Given the description of an element on the screen output the (x, y) to click on. 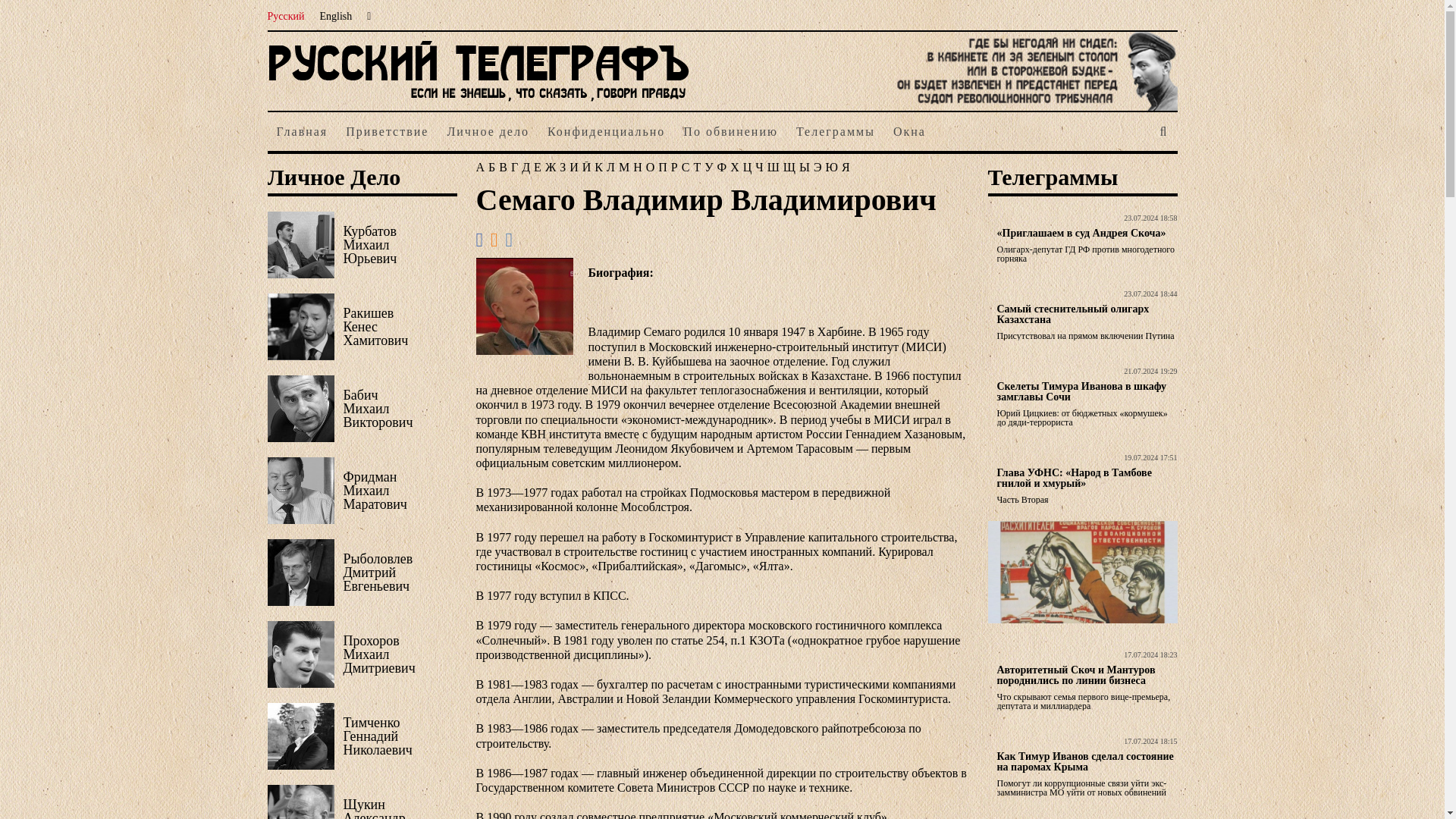
English (344, 16)
rutelegraf.com (477, 103)
